Given the description of an element on the screen output the (x, y) to click on. 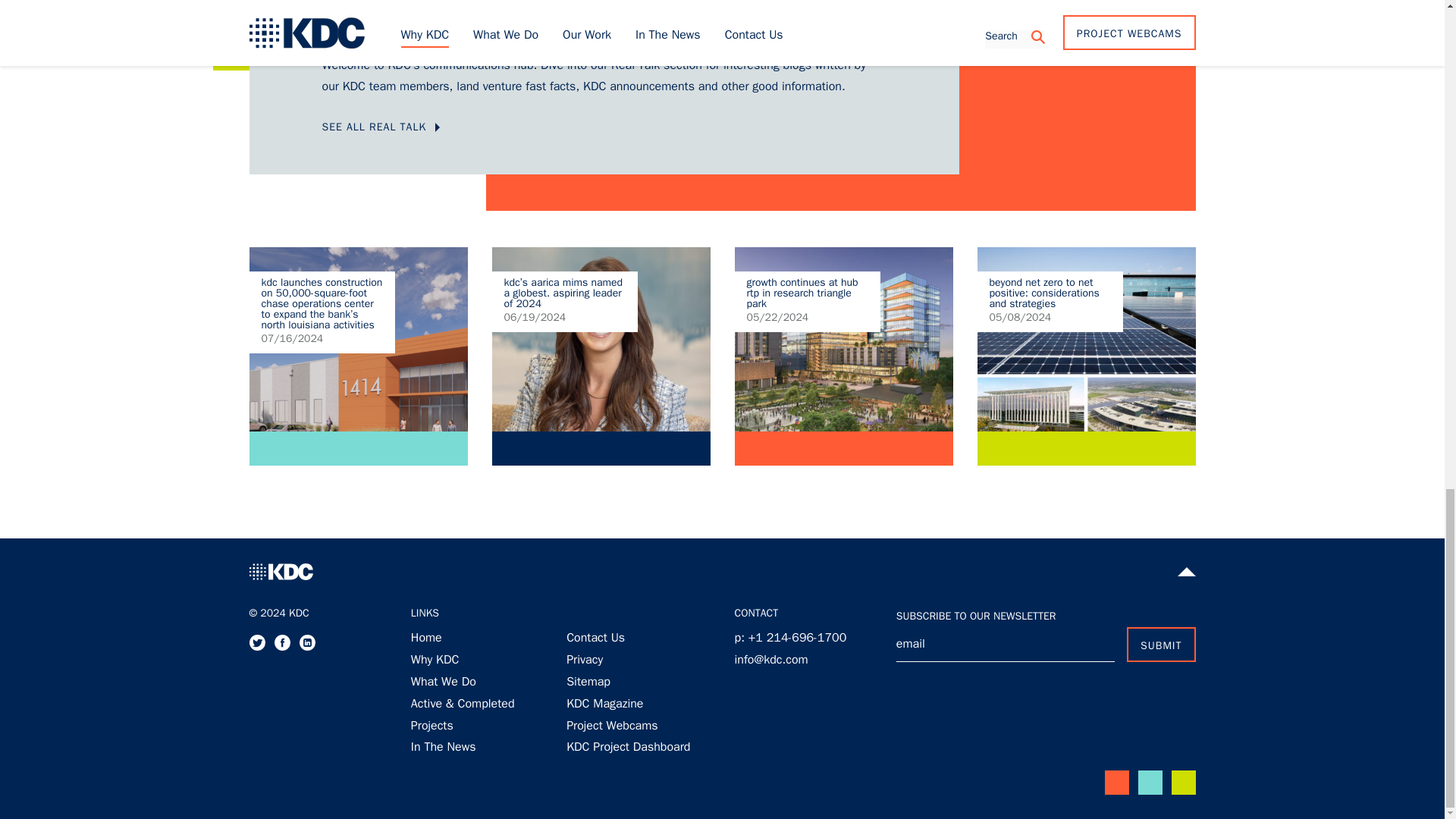
To Top (1185, 571)
